Given the description of an element on the screen output the (x, y) to click on. 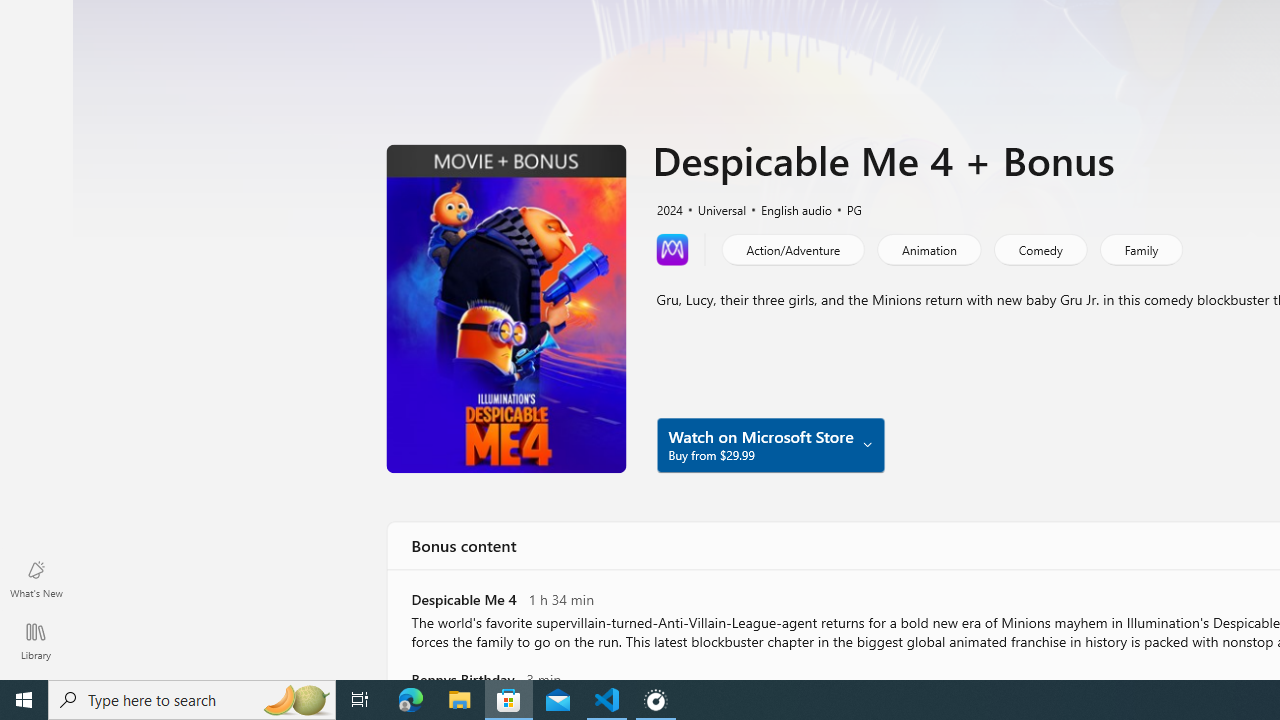
Watch on Microsoft Store Buy from $29.99 (769, 444)
2024 (667, 208)
Action/Adventure (792, 248)
What's New (35, 578)
Learn more about Movies Anywhere (671, 248)
Animation (928, 248)
Family (1140, 248)
Comedy (1039, 248)
Universal (713, 208)
Library (35, 640)
PG (845, 208)
English audio (786, 208)
